Given the description of an element on the screen output the (x, y) to click on. 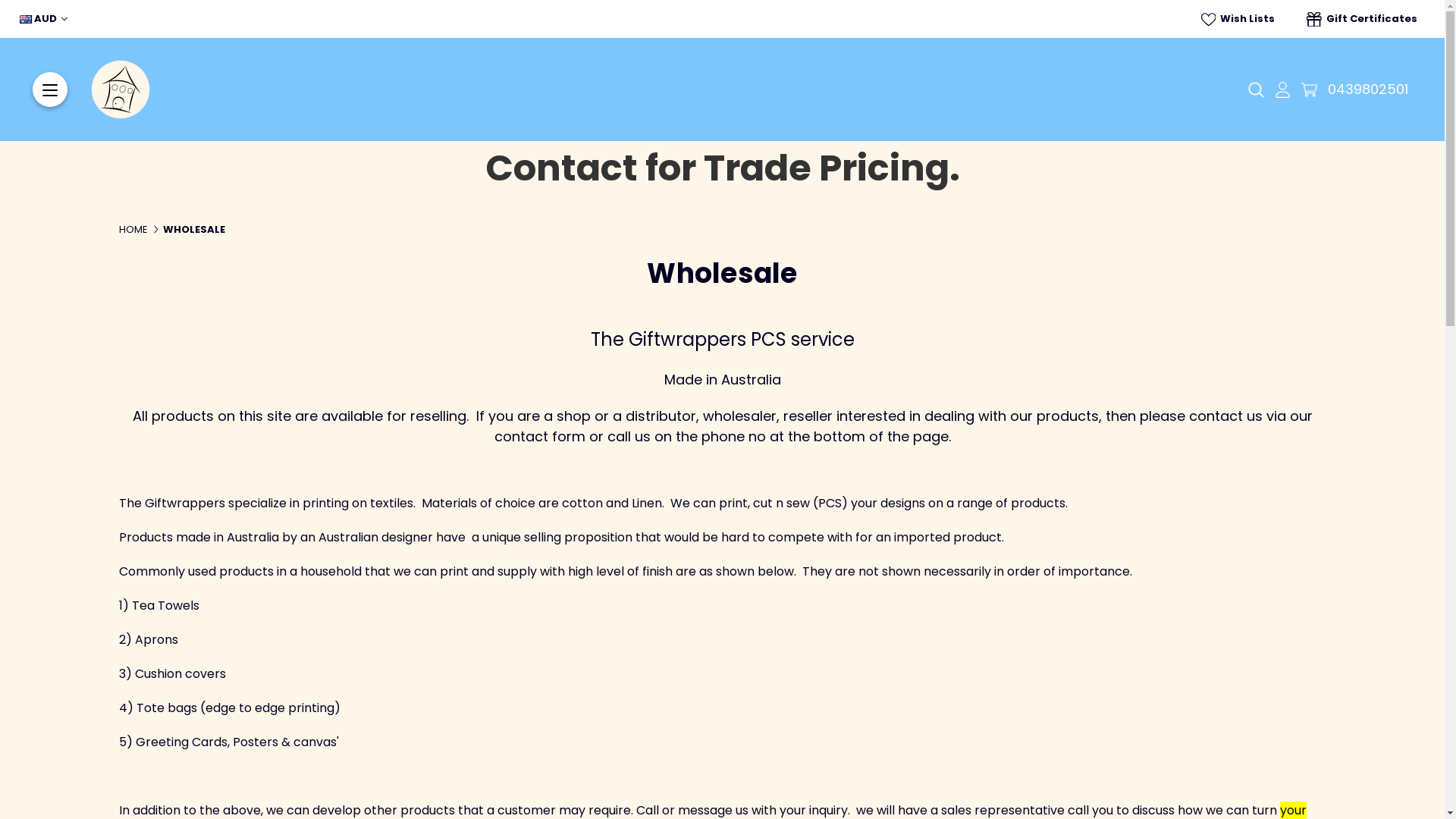
0439802501 Element type: text (1368, 88)
AUD Element type: text (43, 18)
Koton Kraft Element type: hover (120, 89)
Gift Certificates Element type: text (1361, 18)
Wish Lists Element type: text (1238, 18)
WHOLESALE Element type: text (194, 229)
HOME Element type: text (132, 229)
